Given the description of an element on the screen output the (x, y) to click on. 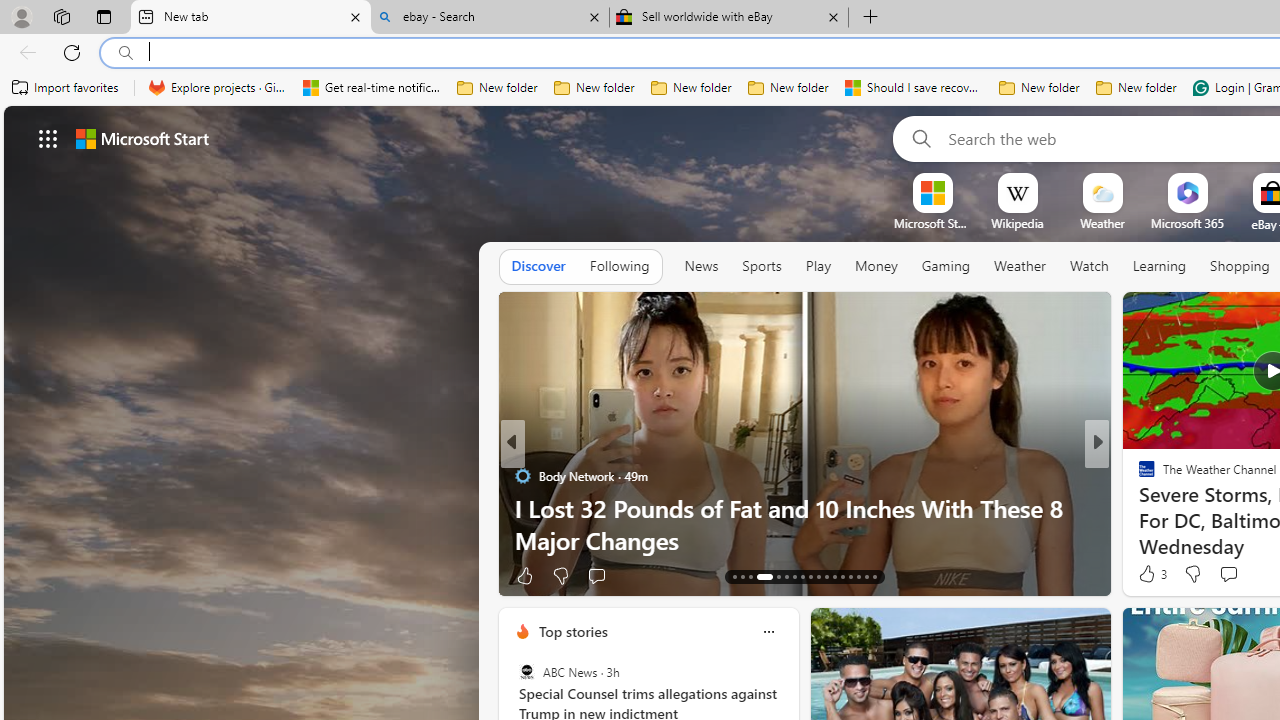
Microsoft 365 (1186, 223)
Discover (538, 265)
TheStreet (1138, 507)
To get missing image descriptions, open the context menu. (932, 192)
ETNT Mind+Body (1138, 475)
AutomationID: tab-28 (865, 576)
AutomationID: tab-25 (842, 576)
ebay - Search (490, 17)
Should I save recovered Word documents? - Microsoft Support (913, 88)
App launcher (47, 138)
138 Like (535, 574)
AutomationID: tab-18 (786, 576)
Spotlight Feature (1138, 475)
Gaming (945, 265)
